Given the description of an element on the screen output the (x, y) to click on. 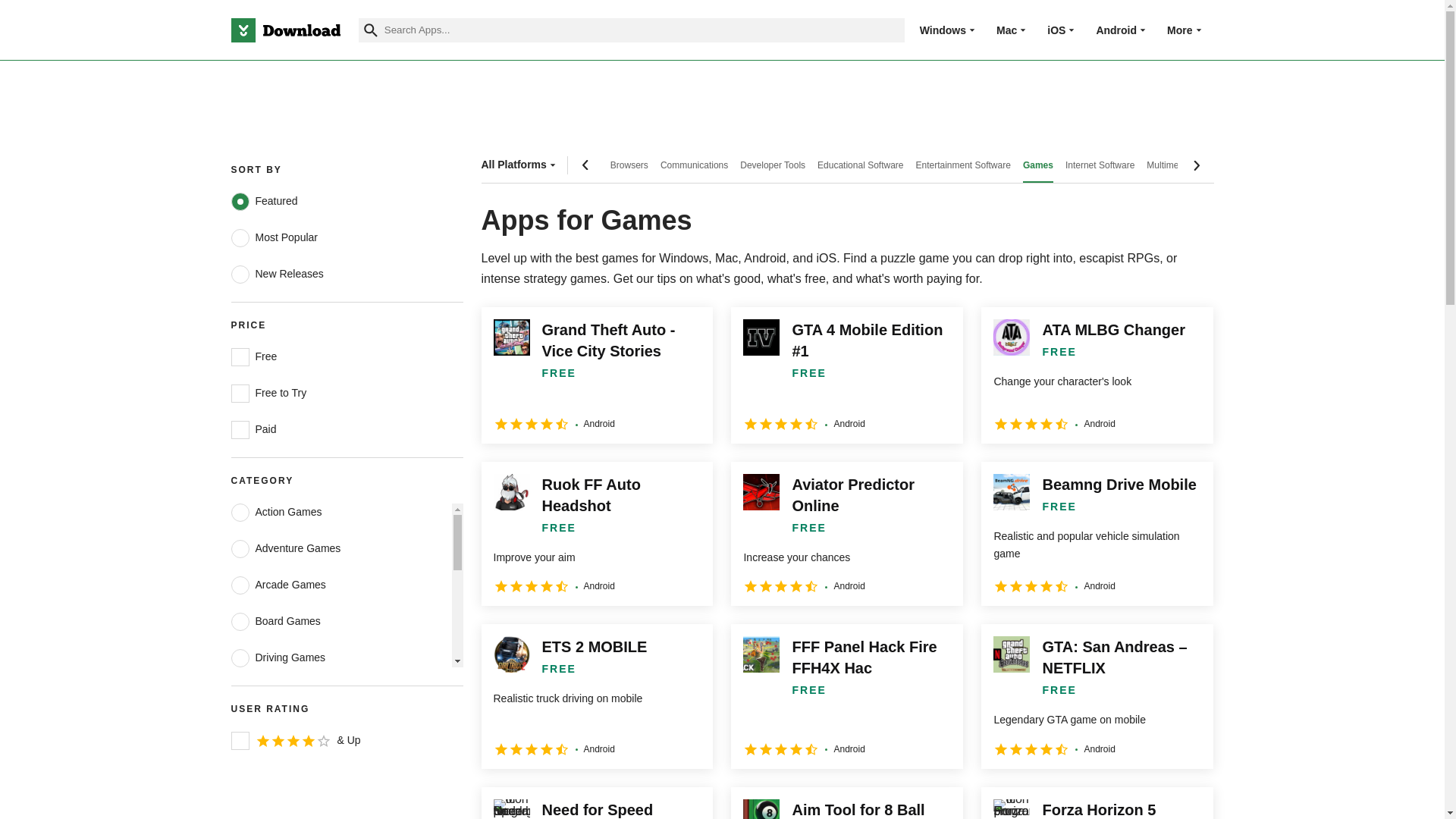
games-adventure (239, 548)
games-casual (239, 585)
games-action (239, 512)
mostPopular (239, 238)
games-kids (239, 730)
Beamng Drive Mobile (1096, 533)
Windows (943, 29)
paid (239, 429)
ETS 2 MOBILE (596, 696)
free (239, 357)
